Given the description of an element on the screen output the (x, y) to click on. 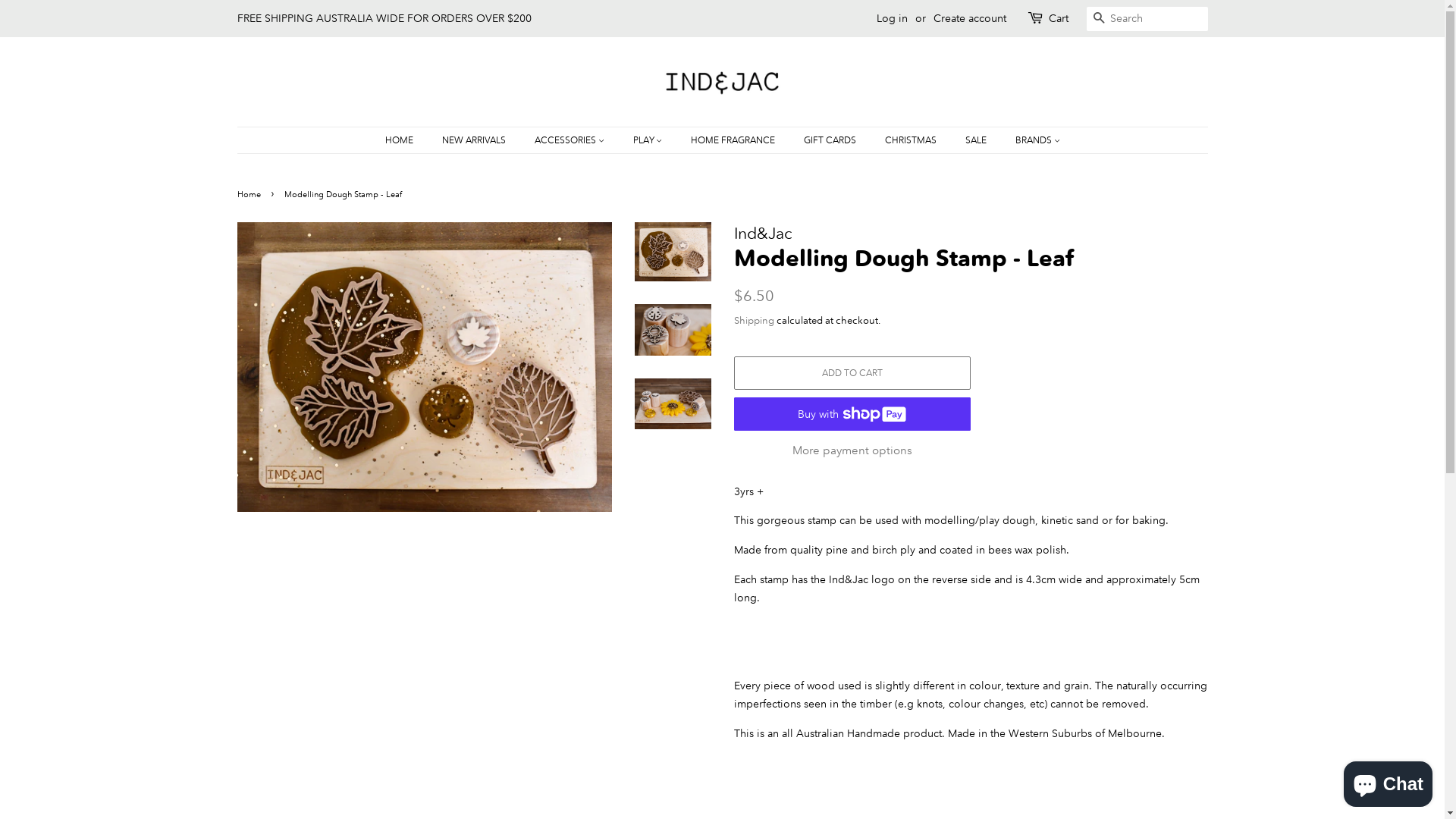
Shopify online store chat Element type: hover (1388, 780)
Log in Element type: text (891, 18)
SEARCH Element type: text (1097, 18)
NEW ARRIVALS Element type: text (475, 140)
HOME FRAGRANCE Element type: text (734, 140)
More payment options Element type: text (852, 449)
ACCESSORIES Element type: text (571, 140)
CHRISTMAS Element type: text (912, 140)
GIFT CARDS Element type: text (830, 140)
BRANDS Element type: text (1032, 140)
SALE Element type: text (977, 140)
ADD TO CART Element type: text (852, 372)
Shipping Element type: text (754, 320)
Home Element type: text (249, 193)
HOME Element type: text (406, 140)
Create account Element type: text (968, 18)
Cart Element type: text (1057, 18)
PLAY Element type: text (649, 140)
